Given the description of an element on the screen output the (x, y) to click on. 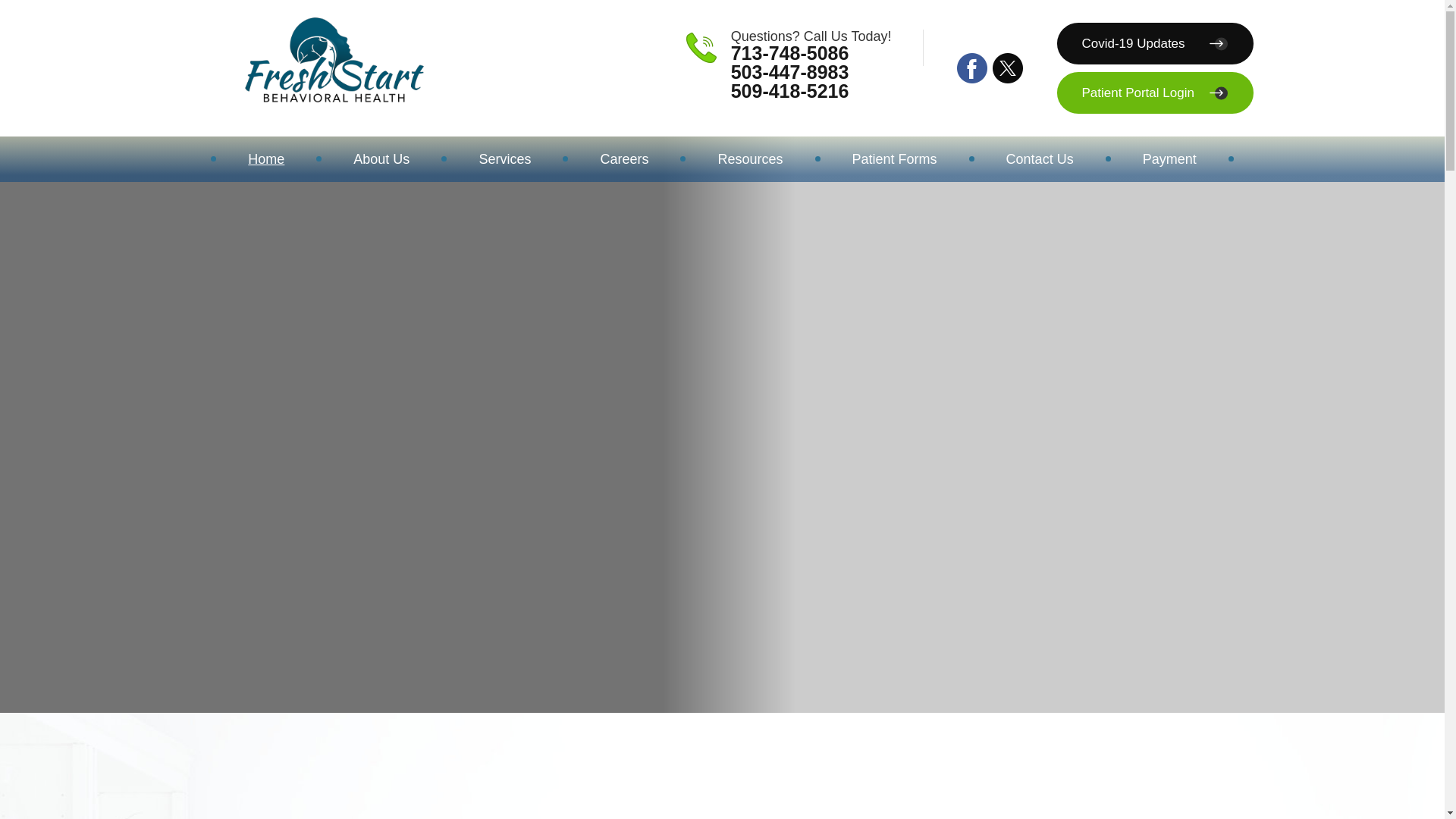
Services (504, 158)
Careers (624, 158)
Contact Us (1040, 158)
Resources (749, 158)
Payment (1168, 158)
Patient Forms (894, 158)
Covid-19 Updates (1155, 43)
Home (266, 158)
About Us (381, 158)
Patient Portal Login (1155, 92)
